Given the description of an element on the screen output the (x, y) to click on. 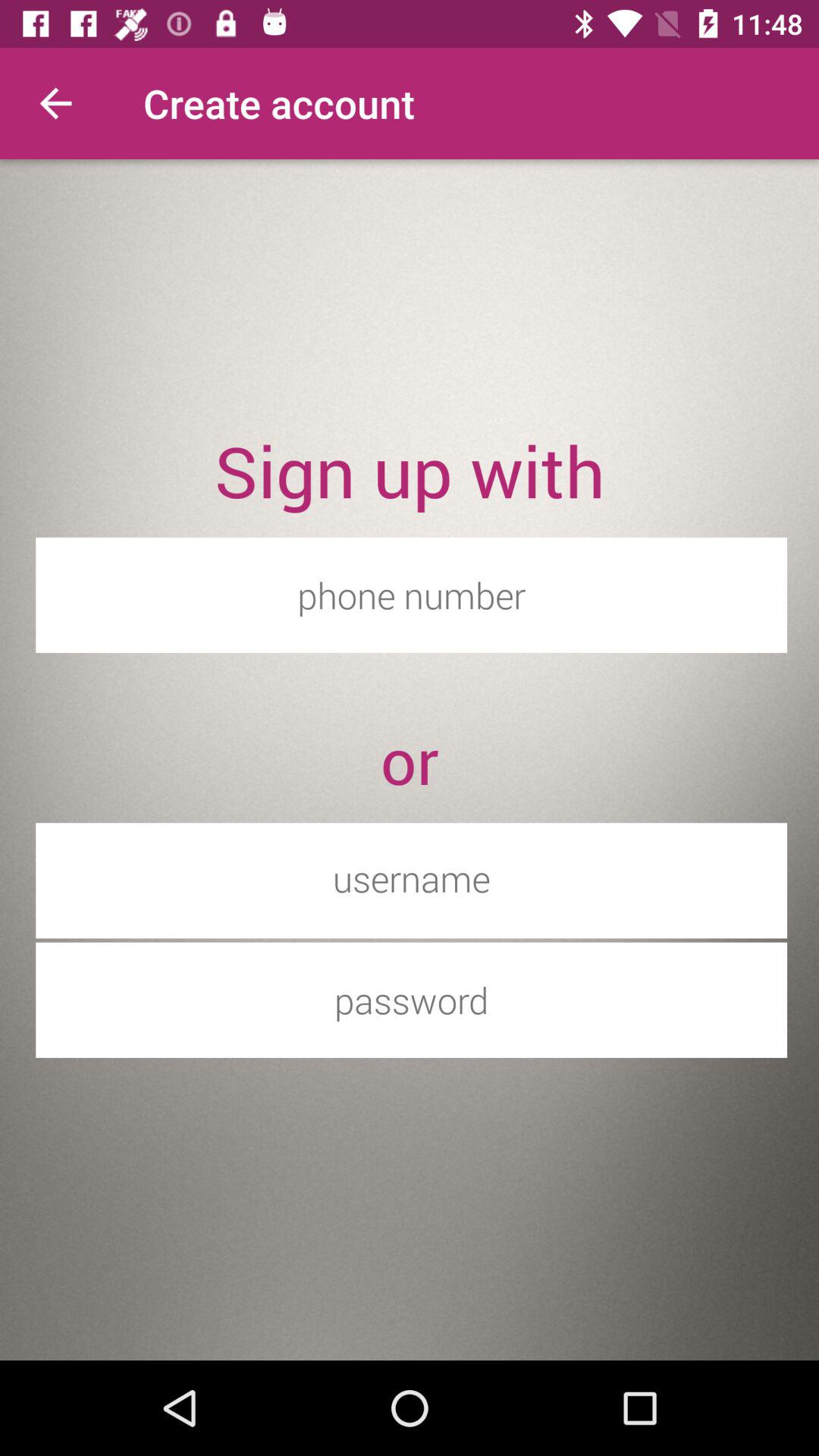
open the item above the or item (411, 595)
